Given the description of an element on the screen output the (x, y) to click on. 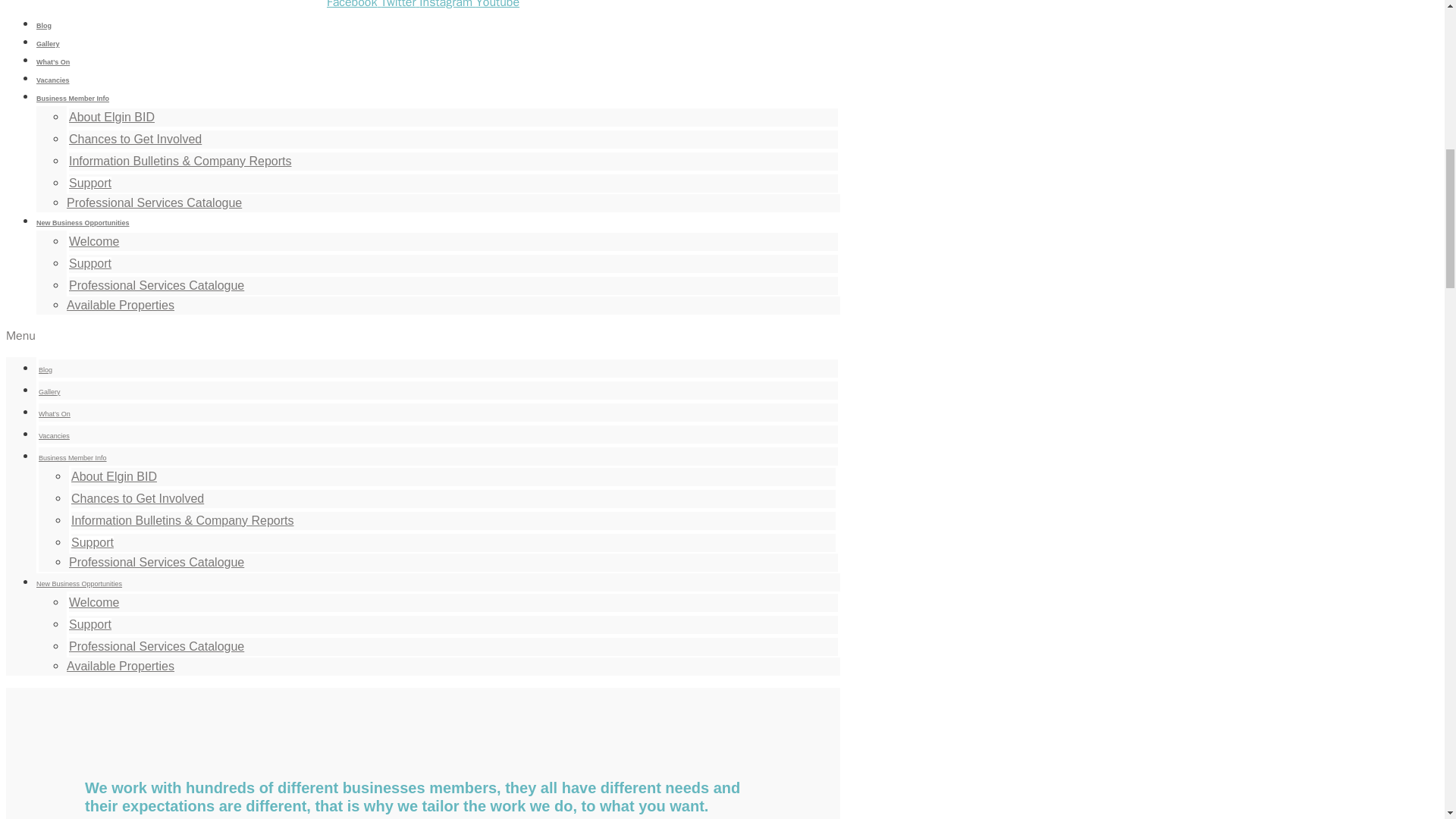
Twitter (399, 4)
Facebook (353, 4)
Instagram (447, 4)
